Given the description of an element on the screen output the (x, y) to click on. 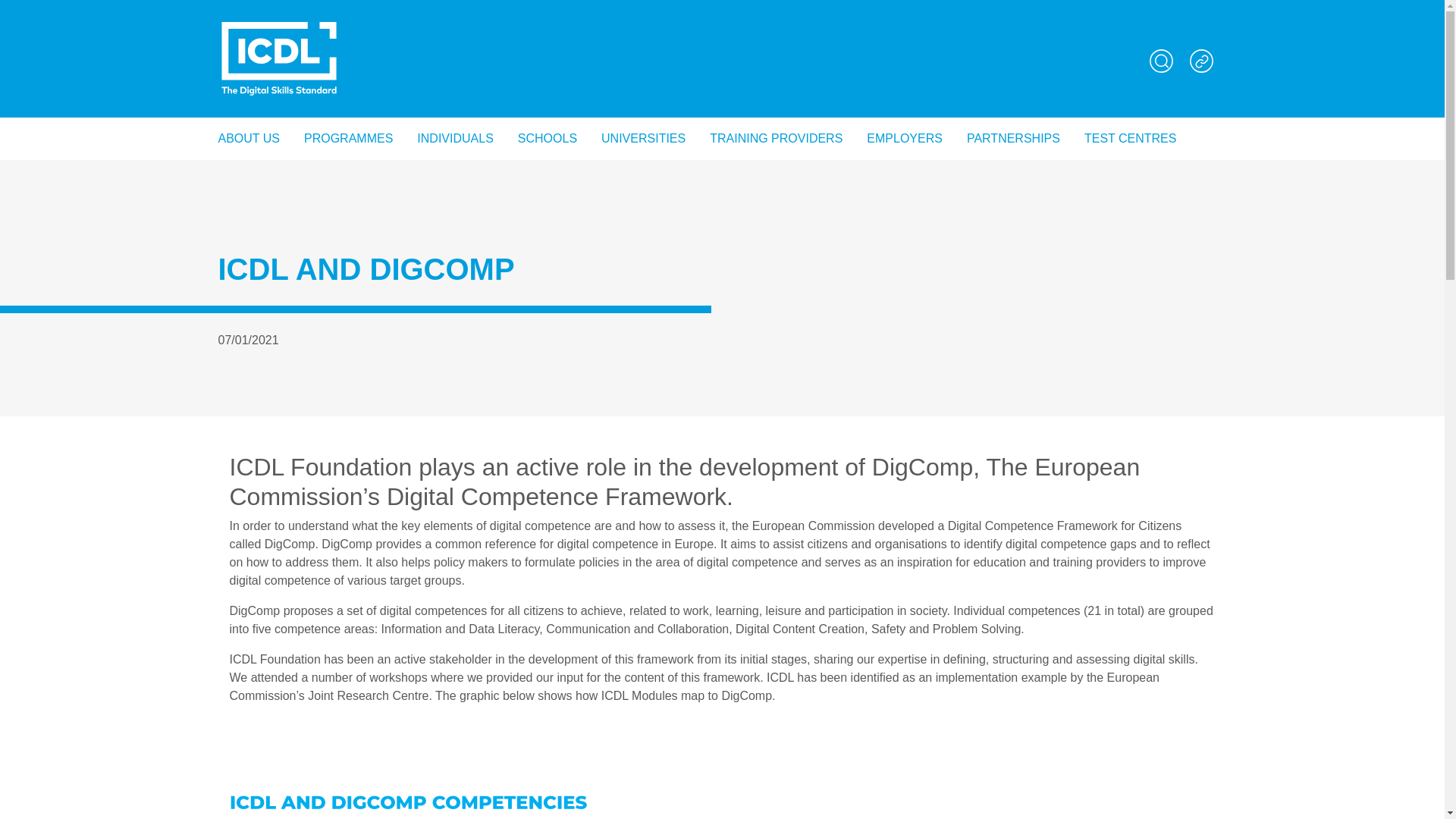
SCHOOLS (547, 71)
PROGRAMMES (348, 71)
PARTNERSHIPS (1013, 71)
UNIVERSITIES (643, 71)
ICDL Global (278, 24)
EMPLOYERS (904, 71)
INDIVIDUALS (454, 71)
TEST CENTRES (1130, 71)
ABOUT US (255, 71)
TRAINING PROVIDERS (775, 71)
